Given the description of an element on the screen output the (x, y) to click on. 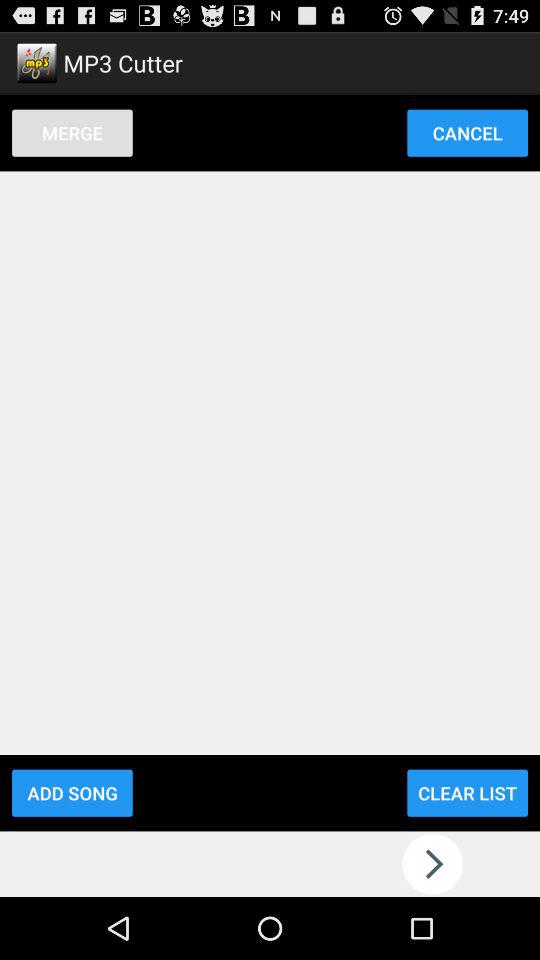
flip until the add song item (72, 792)
